Given the description of an element on the screen output the (x, y) to click on. 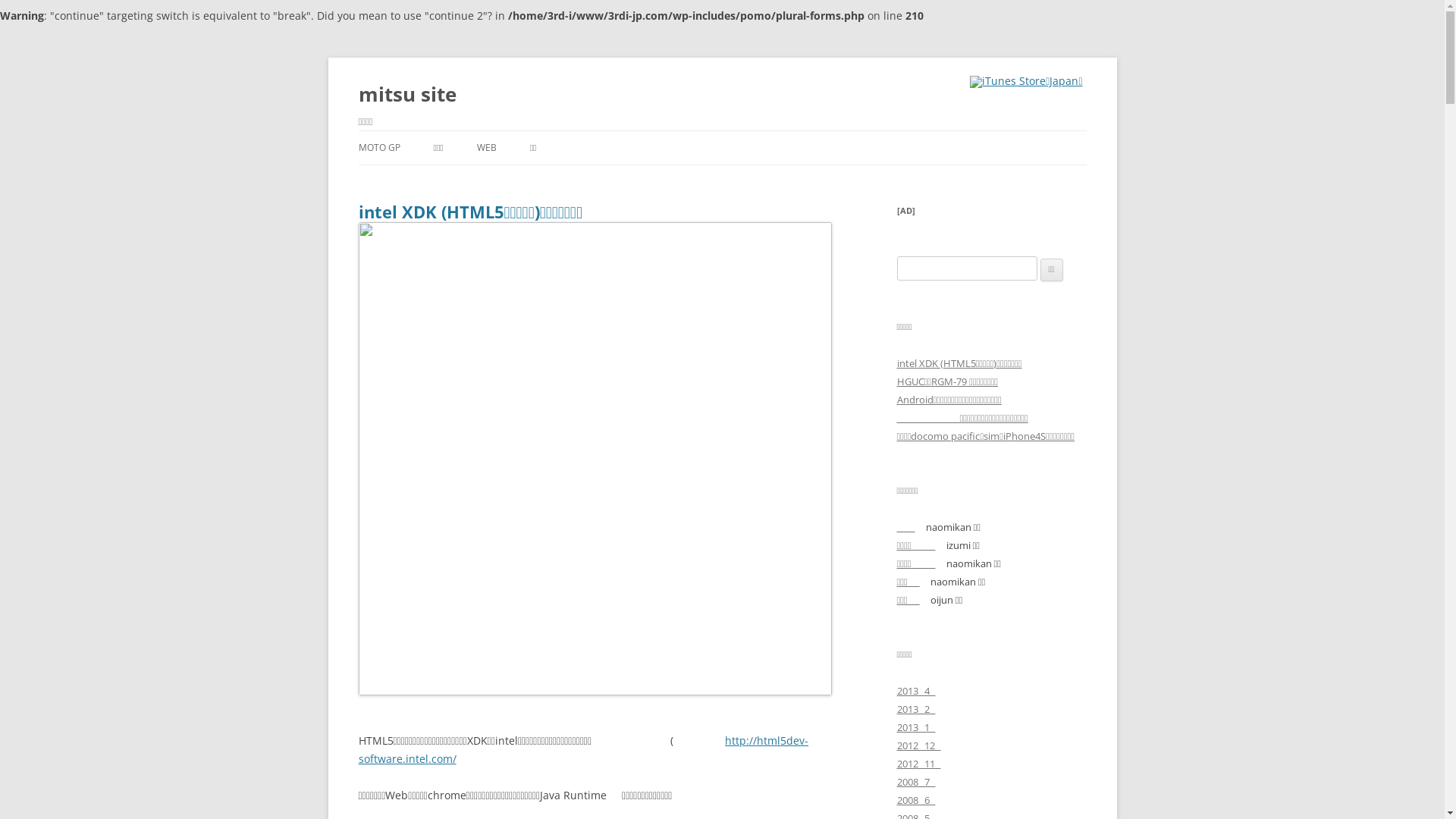
mitsu site Element type: text (406, 93)
MOTO GP Element type: text (378, 147)
WEB Element type: text (486, 147)
http://html5dev-software.intel.com/ Element type: text (582, 749)
